Given the description of an element on the screen output the (x, y) to click on. 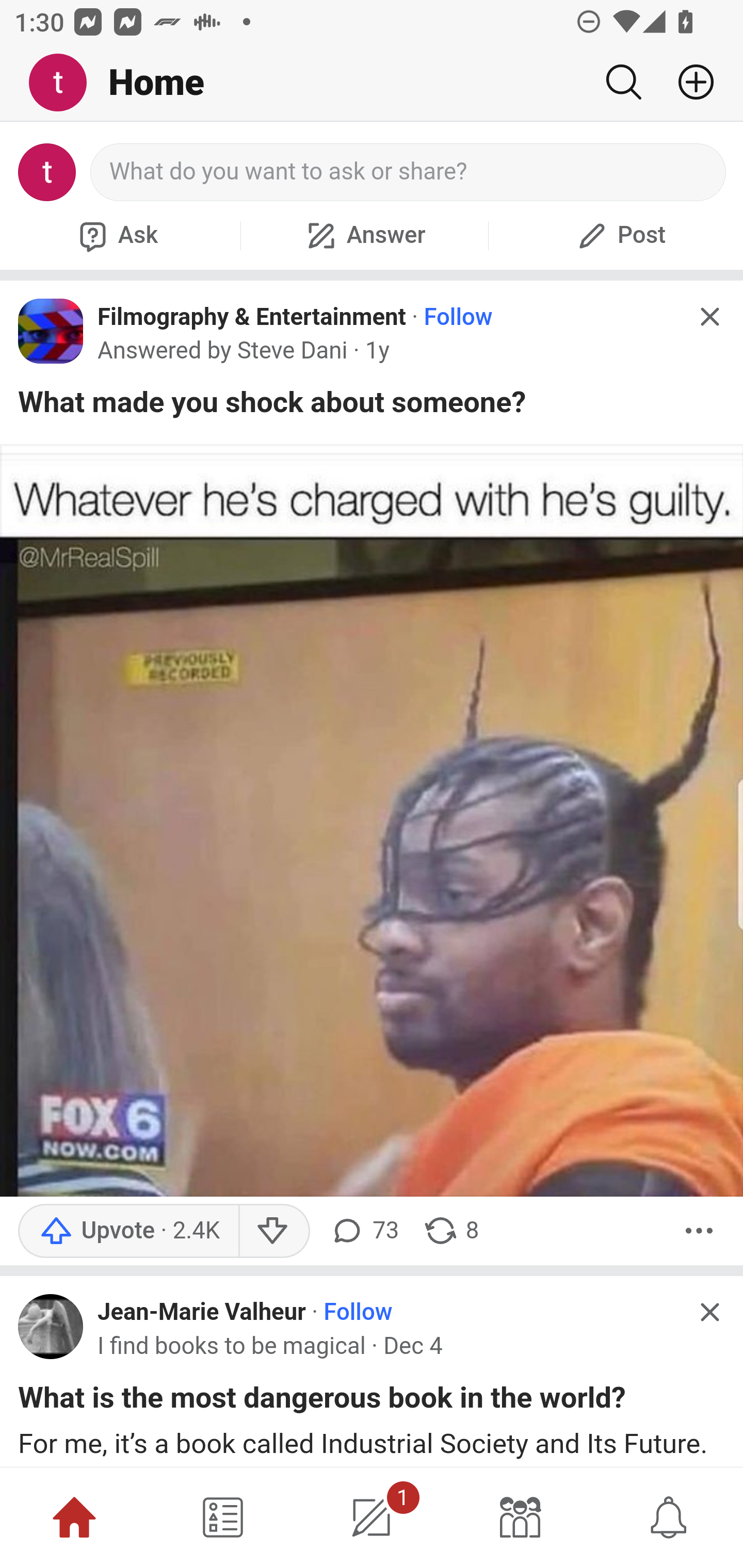
Me (64, 83)
Search (623, 82)
Add (688, 82)
What do you want to ask or share? (408, 172)
Ask (116, 234)
Answer (364, 234)
Post (618, 234)
Hide (709, 316)
Icon for Filmography & Entertainment (50, 330)
Filmography & Entertainment (251, 316)
Follow (457, 316)
Upvote (127, 1230)
Downvote (273, 1230)
73 comments (363, 1230)
8 shares (449, 1230)
More (699, 1230)
Hide (709, 1311)
Profile photo for Jean-Marie Valheur (50, 1326)
Jean-Marie Valheur (201, 1313)
Follow (358, 1313)
1 (371, 1517)
